Given the description of an element on the screen output the (x, y) to click on. 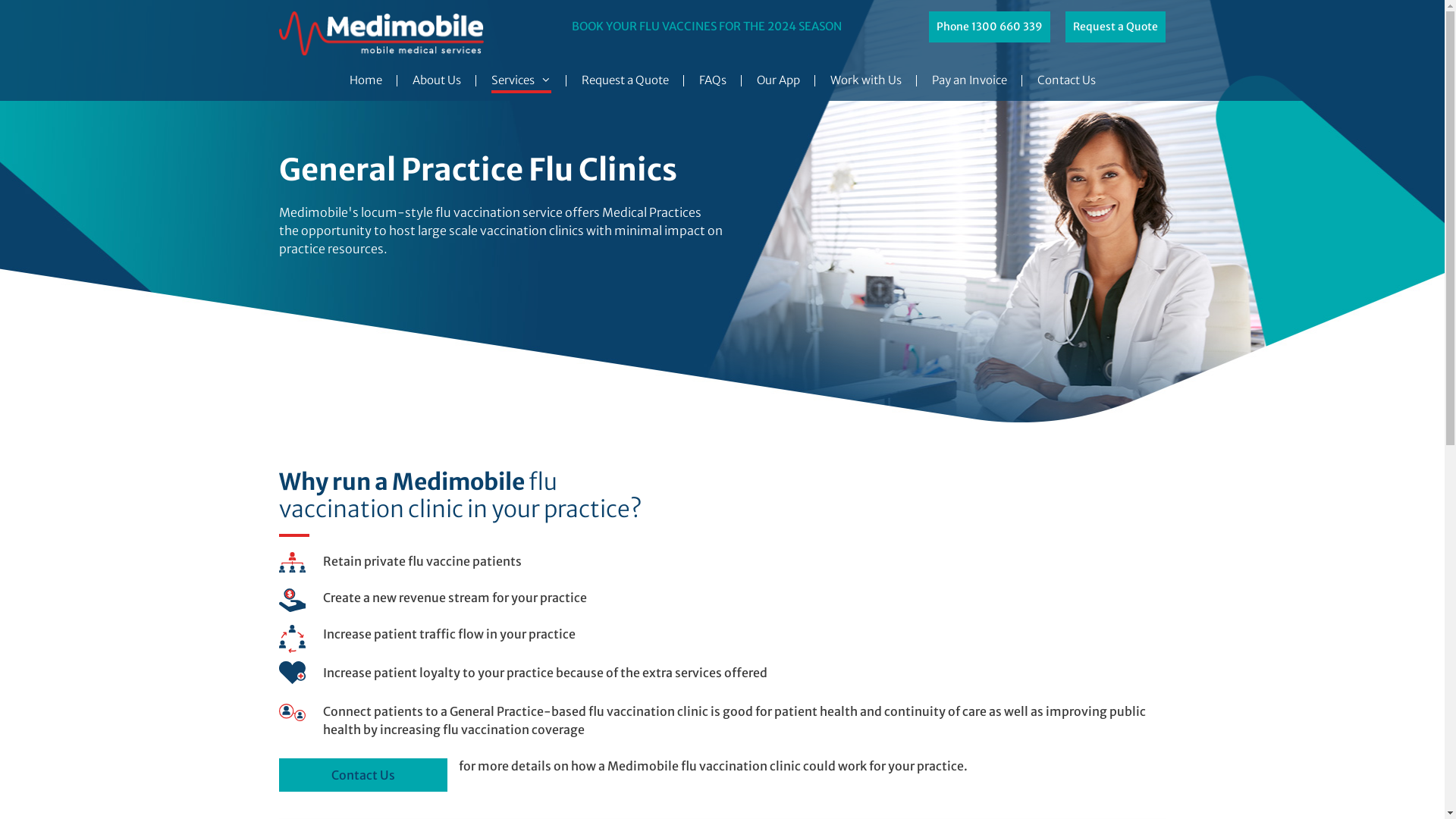
Our App Element type: text (778, 79)
Contact Us Element type: text (1066, 79)
Phone 1300 660 339 Element type: text (989, 26)
Services Element type: text (521, 79)
Work with Us Element type: text (864, 79)
Contact Us Element type: text (363, 774)
Request a Quote Element type: text (1115, 26)
Request a Quote Element type: text (624, 79)
Pay an Invoice Element type: text (968, 79)
Home Element type: text (364, 79)
FAQs Element type: text (712, 79)
About Us Element type: text (436, 79)
